Given the description of an element on the screen output the (x, y) to click on. 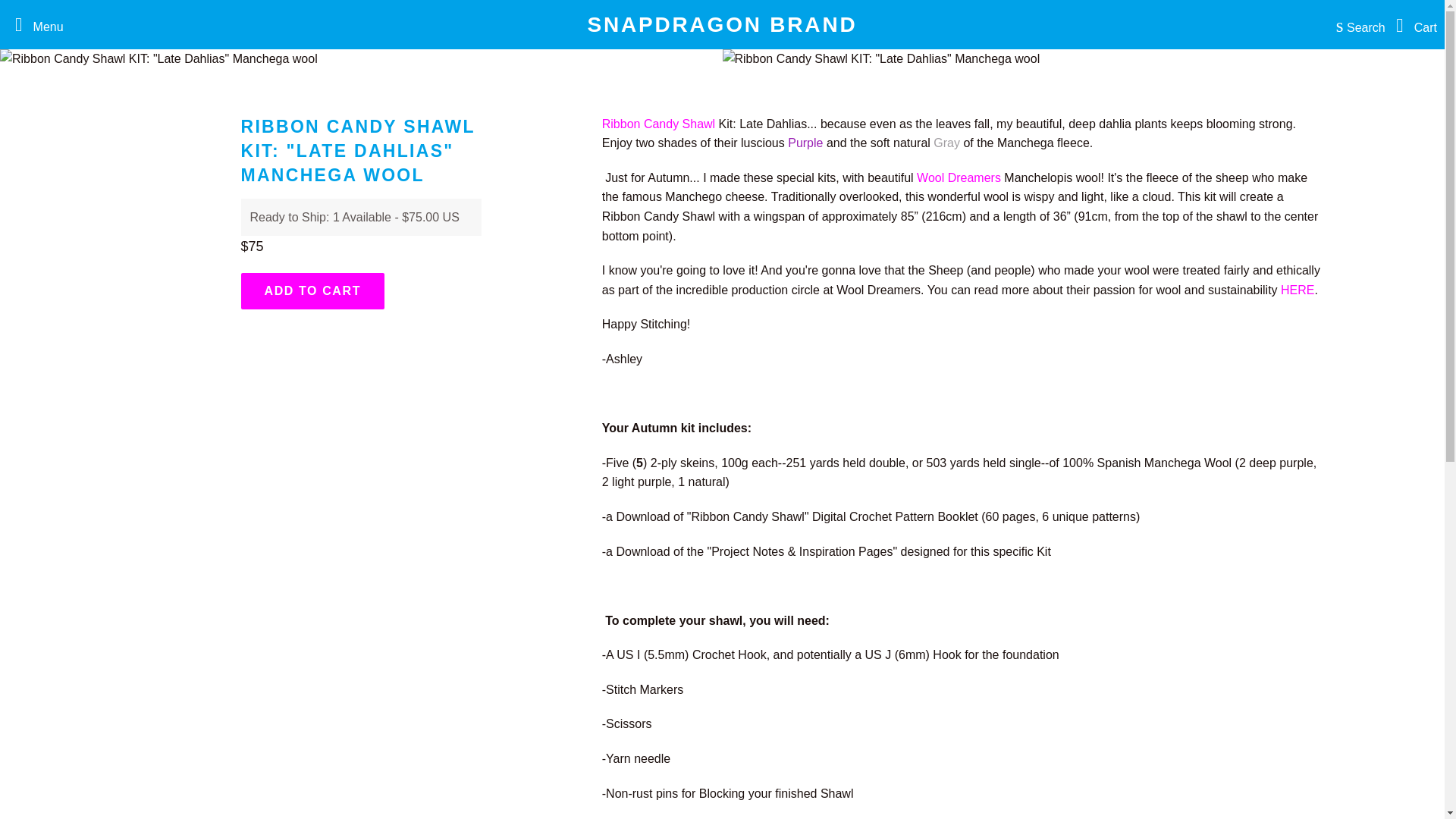
SNAPDRAGON BRAND (722, 24)
